Given the description of an element on the screen output the (x, y) to click on. 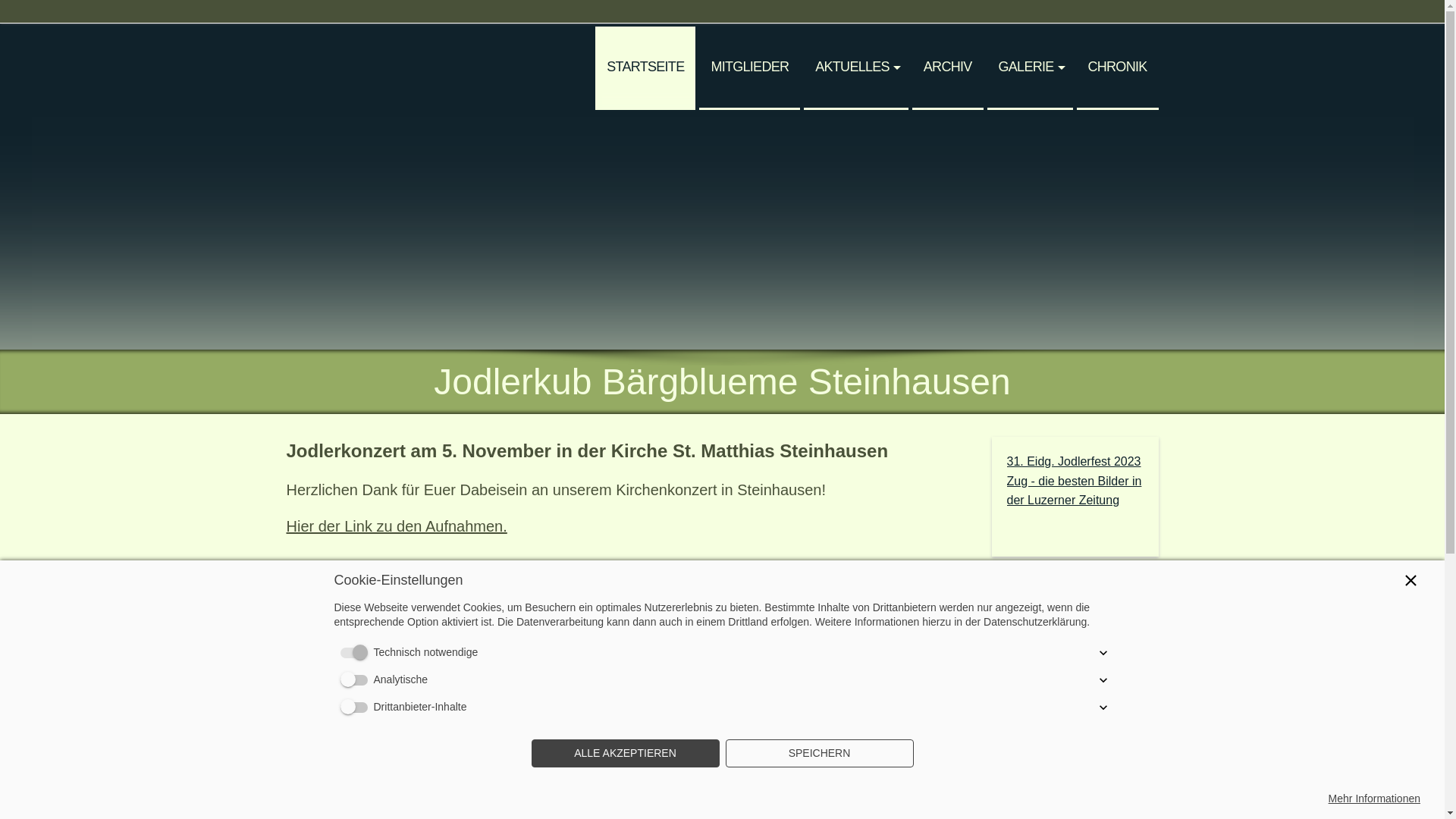
Mehr Bilder ... Element type: text (333, 720)
AKTUELLES Element type: text (855, 67)
ALLE AKZEPTIEREN Element type: text (624, 753)
Badenfahrt 2023 Element type: text (576, 684)
ARCHIV Element type: text (947, 67)
MITGLIEDER Element type: text (749, 67)
GALERIE Element type: text (1030, 67)
  Element type: text (362, 32)
Hier der Link zu den Aufnahmen. Element type: text (396, 525)
Mehr Informationen Element type: text (1374, 798)
SPEICHERN Element type: text (818, 753)
STARTSEITE Element type: text (645, 67)
CHRONIK Element type: text (1117, 67)
